Given the description of an element on the screen output the (x, y) to click on. 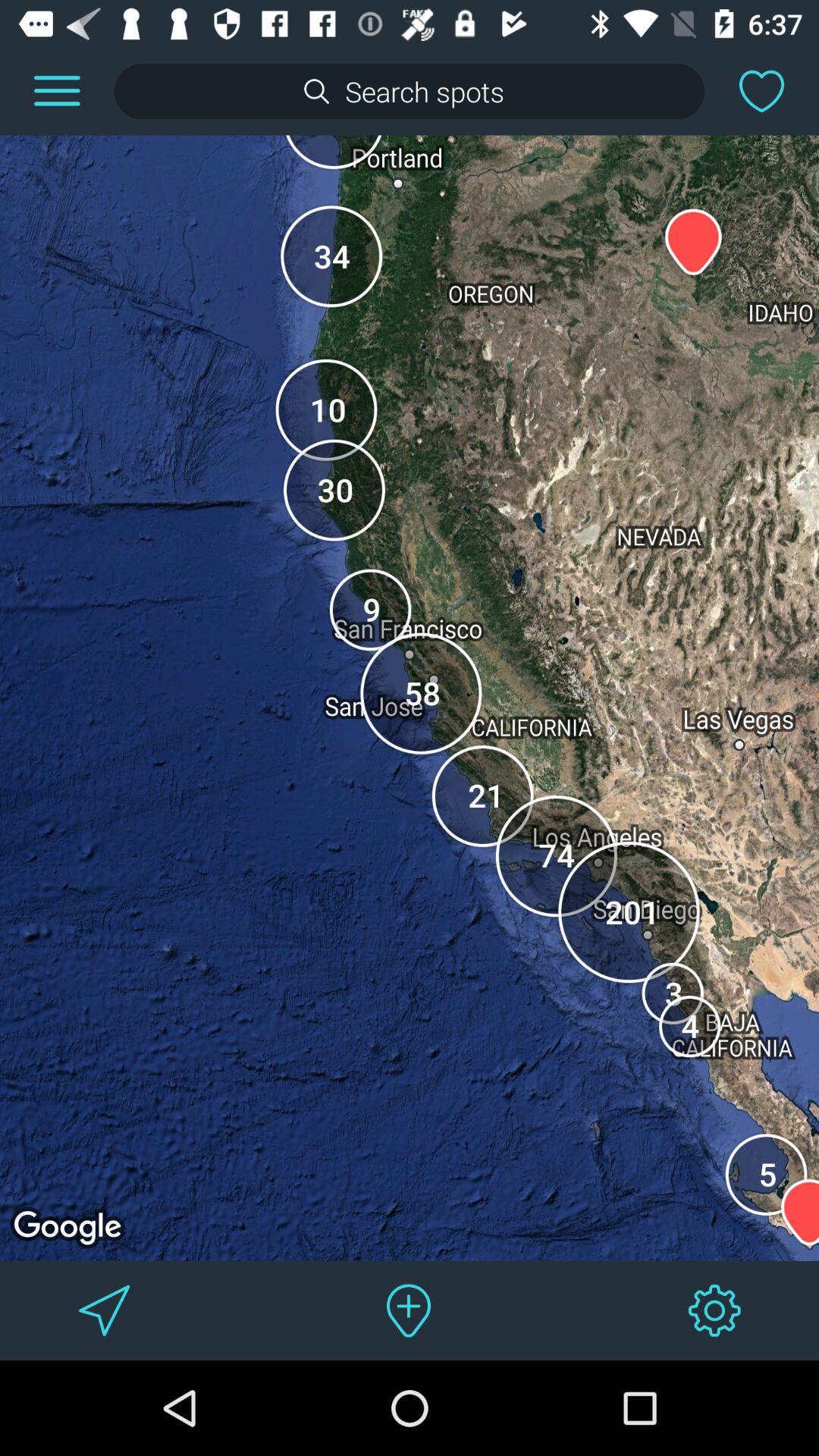
save the map (761, 91)
